Given the description of an element on the screen output the (x, y) to click on. 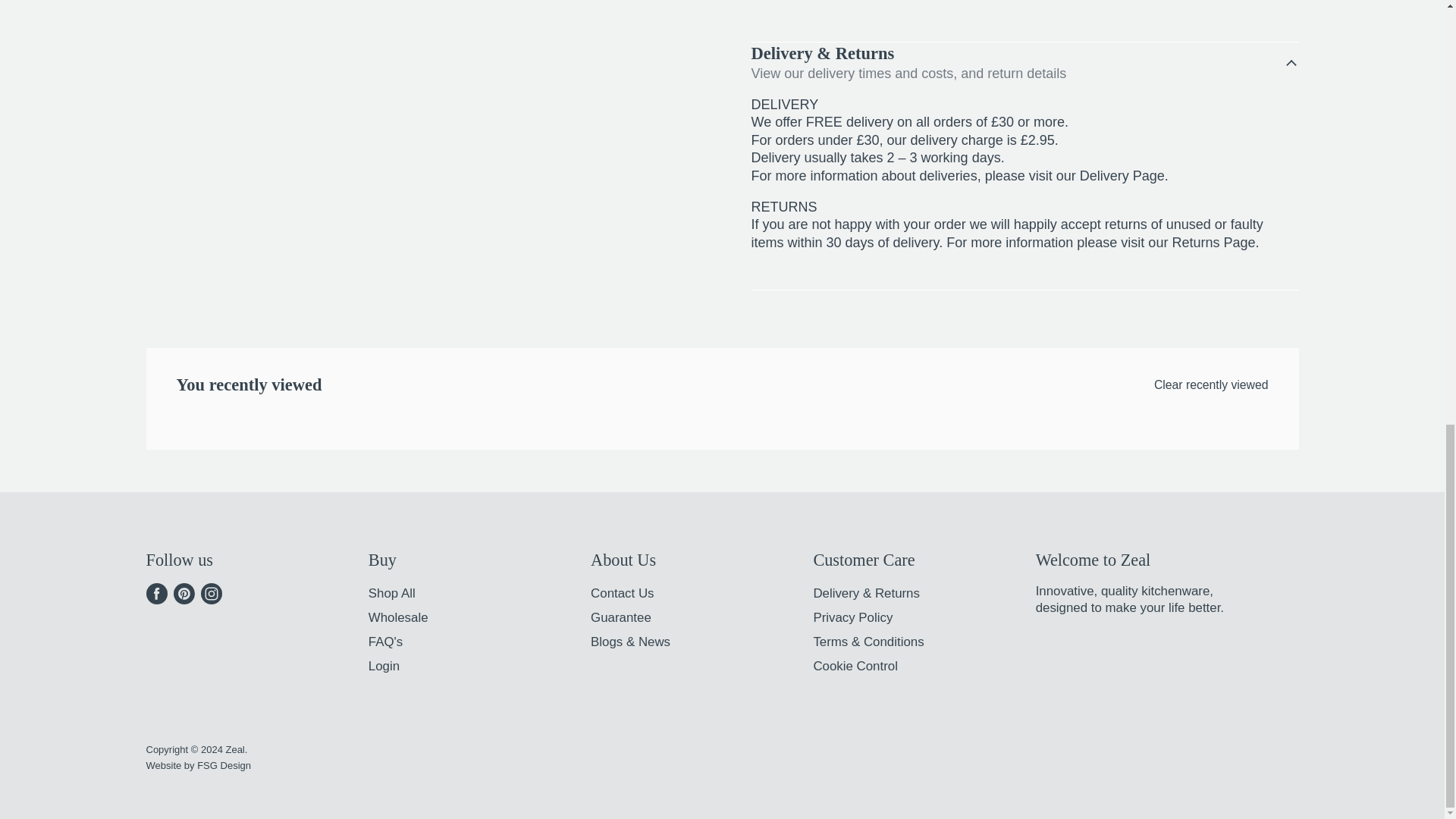
Pinterest (183, 593)
Facebook (156, 593)
Instagram (210, 593)
